Given the description of an element on the screen output the (x, y) to click on. 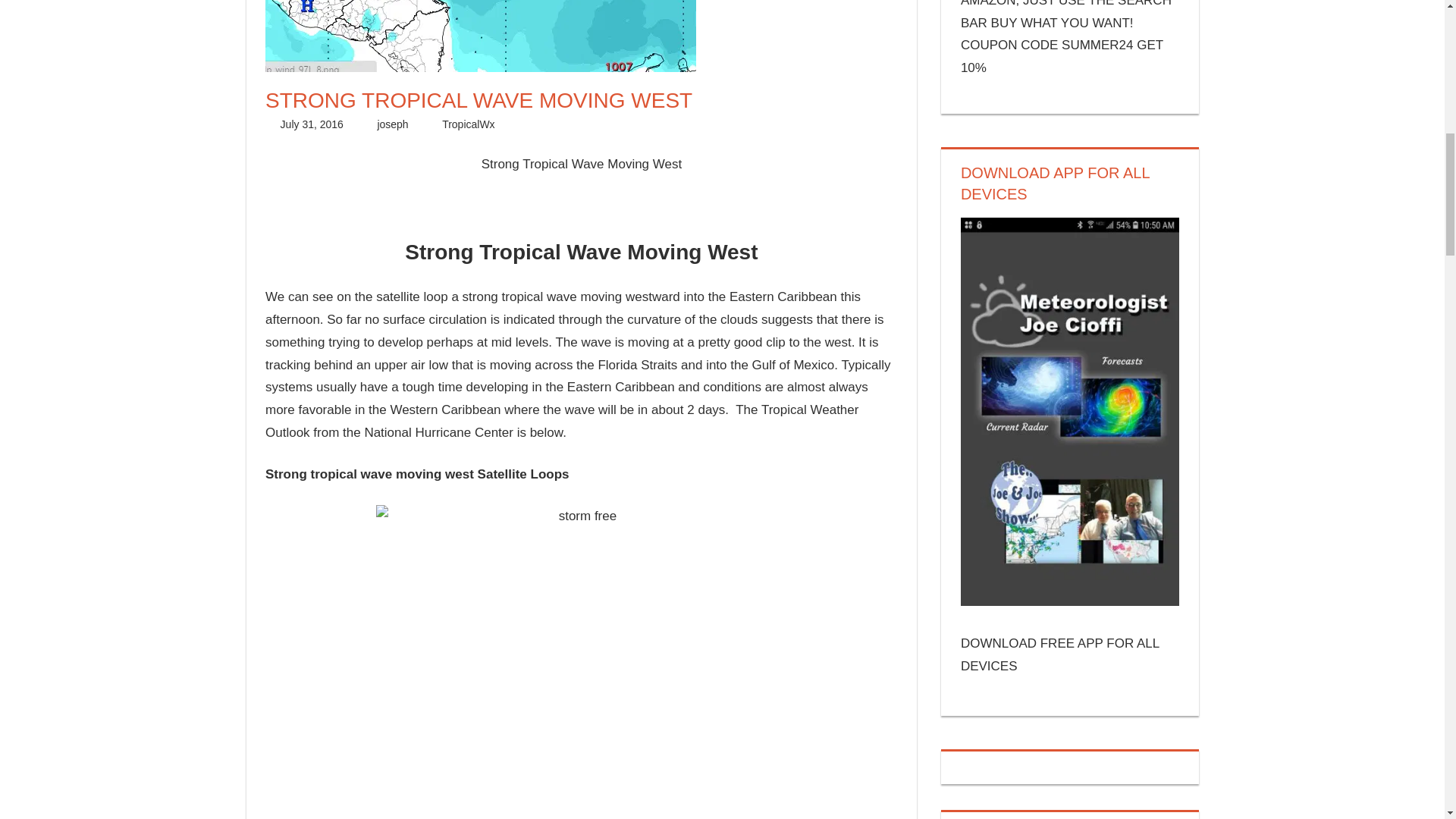
July 31, 2016 (312, 123)
View all posts by joseph (392, 123)
joseph (392, 123)
TropicalWx (468, 123)
2:10 pm (312, 123)
